Given the description of an element on the screen output the (x, y) to click on. 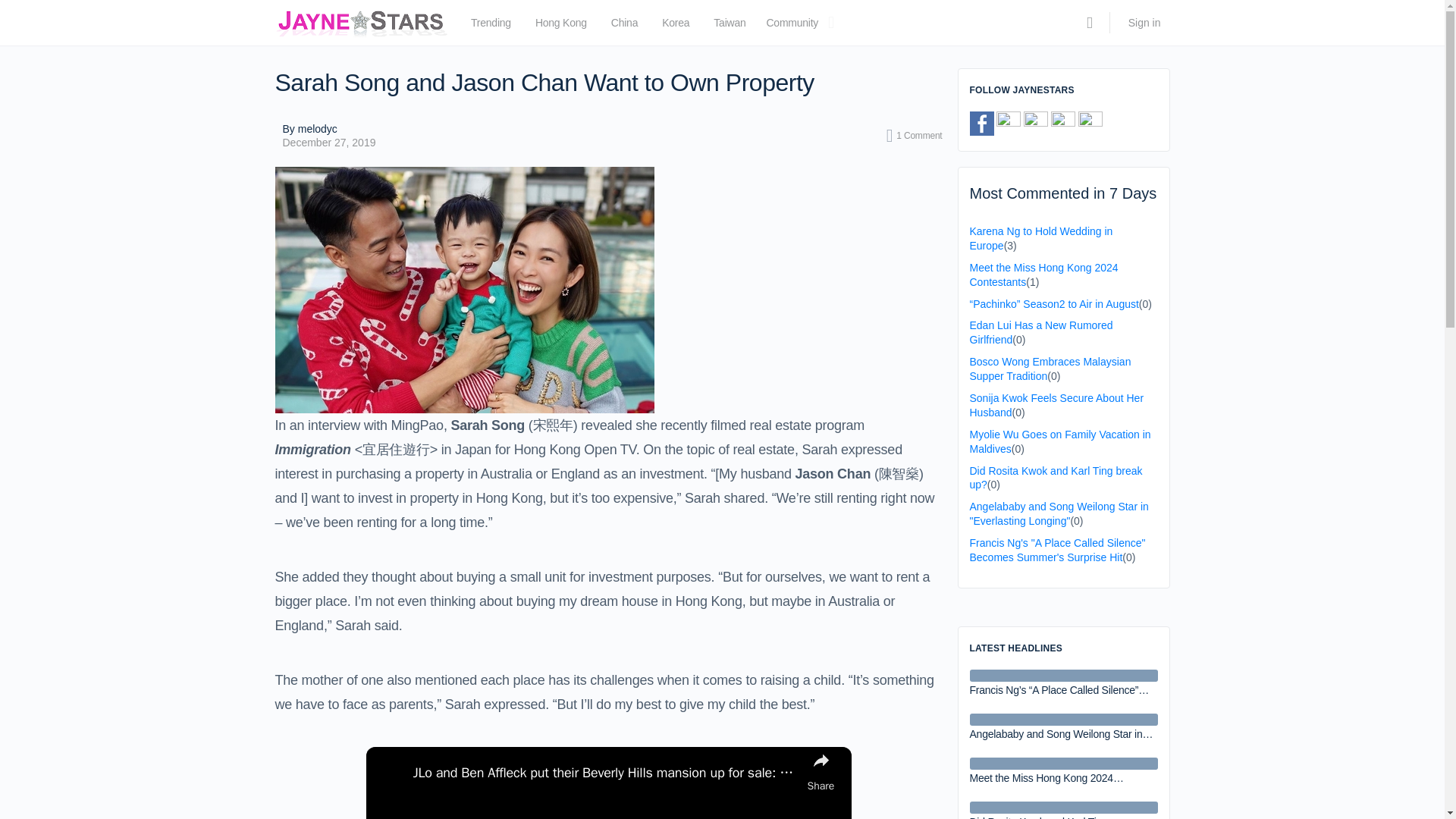
Facebook (980, 122)
December 27, 2019 (328, 142)
Twitter (1007, 122)
Pinterest (1035, 122)
Sign in (1144, 22)
By melodyc (328, 128)
Hong Kong (560, 25)
Community (791, 25)
1 Comment (914, 135)
